Given the description of an element on the screen output the (x, y) to click on. 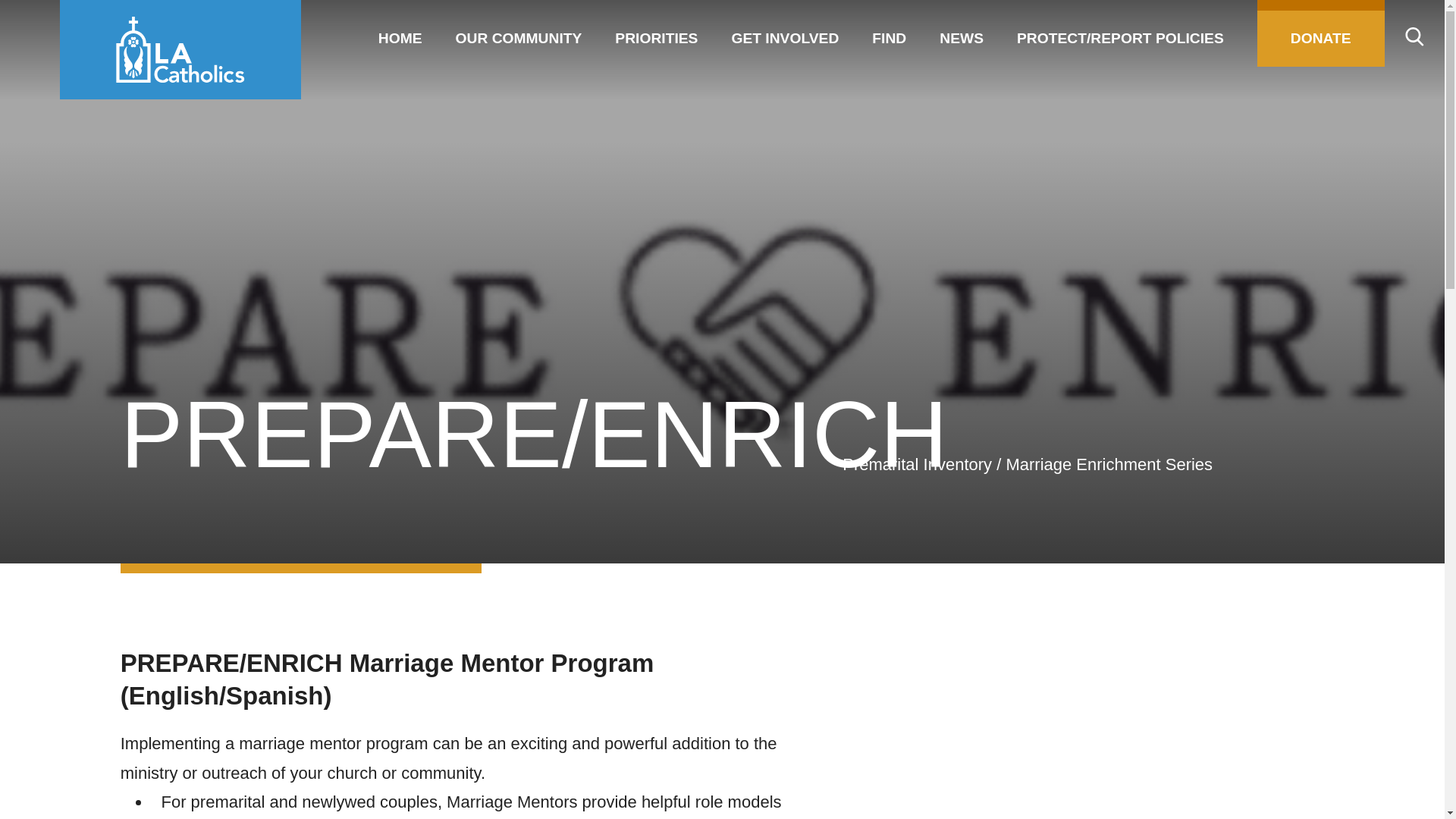
HOME (400, 33)
Catholic LA (180, 49)
OUR COMMUNITY (518, 33)
